Given the description of an element on the screen output the (x, y) to click on. 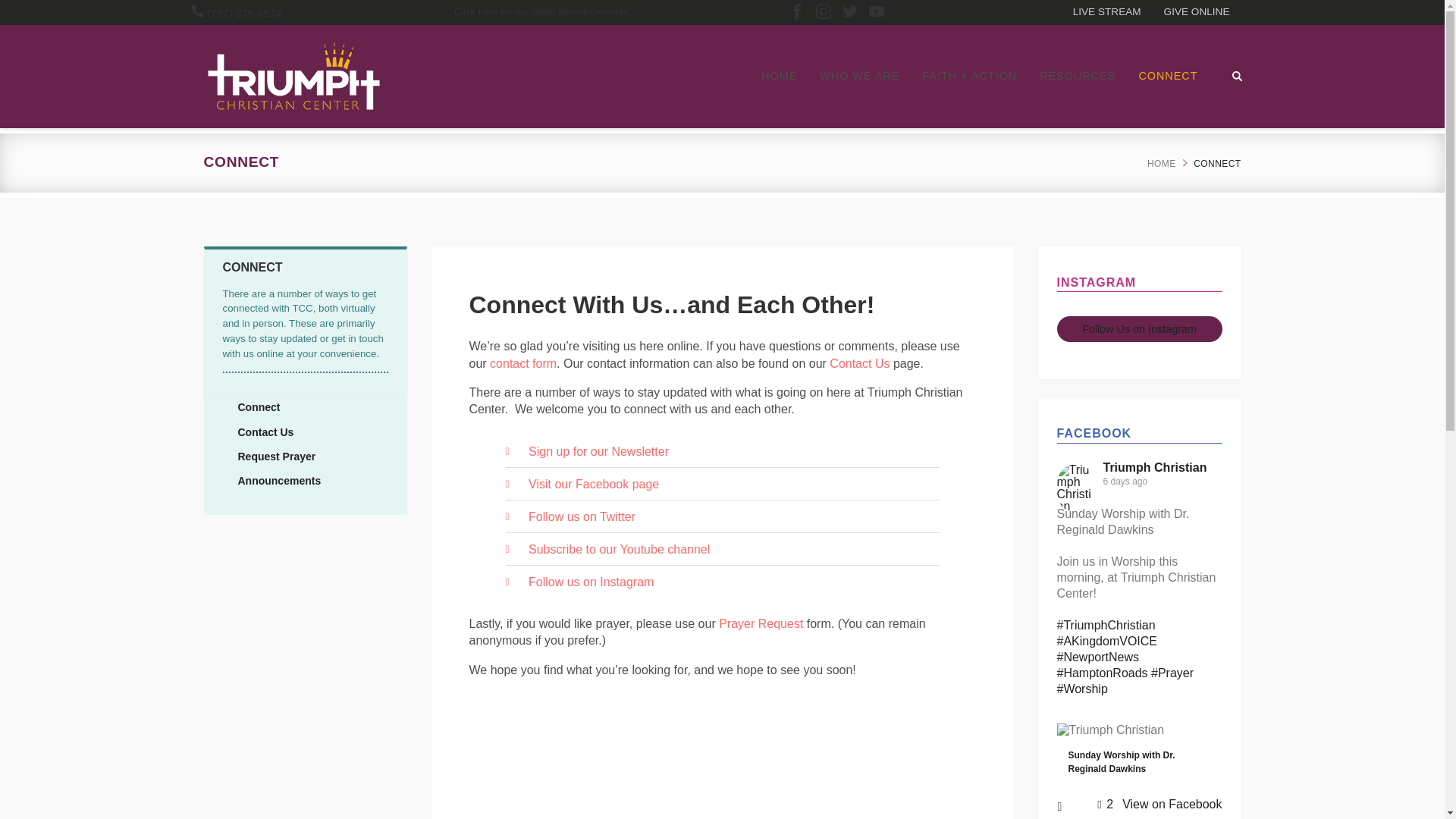
Twitter (849, 12)
Subscribe to our Youtube channel (722, 549)
Facebook (797, 12)
Follow us on Twitter (722, 517)
Social Share Options (1063, 807)
Visit our Facebook page (722, 484)
WHO WE ARE (859, 75)
contact form (522, 363)
HOME (778, 75)
Sign up for our Newsletter (722, 451)
